Given the description of an element on the screen output the (x, y) to click on. 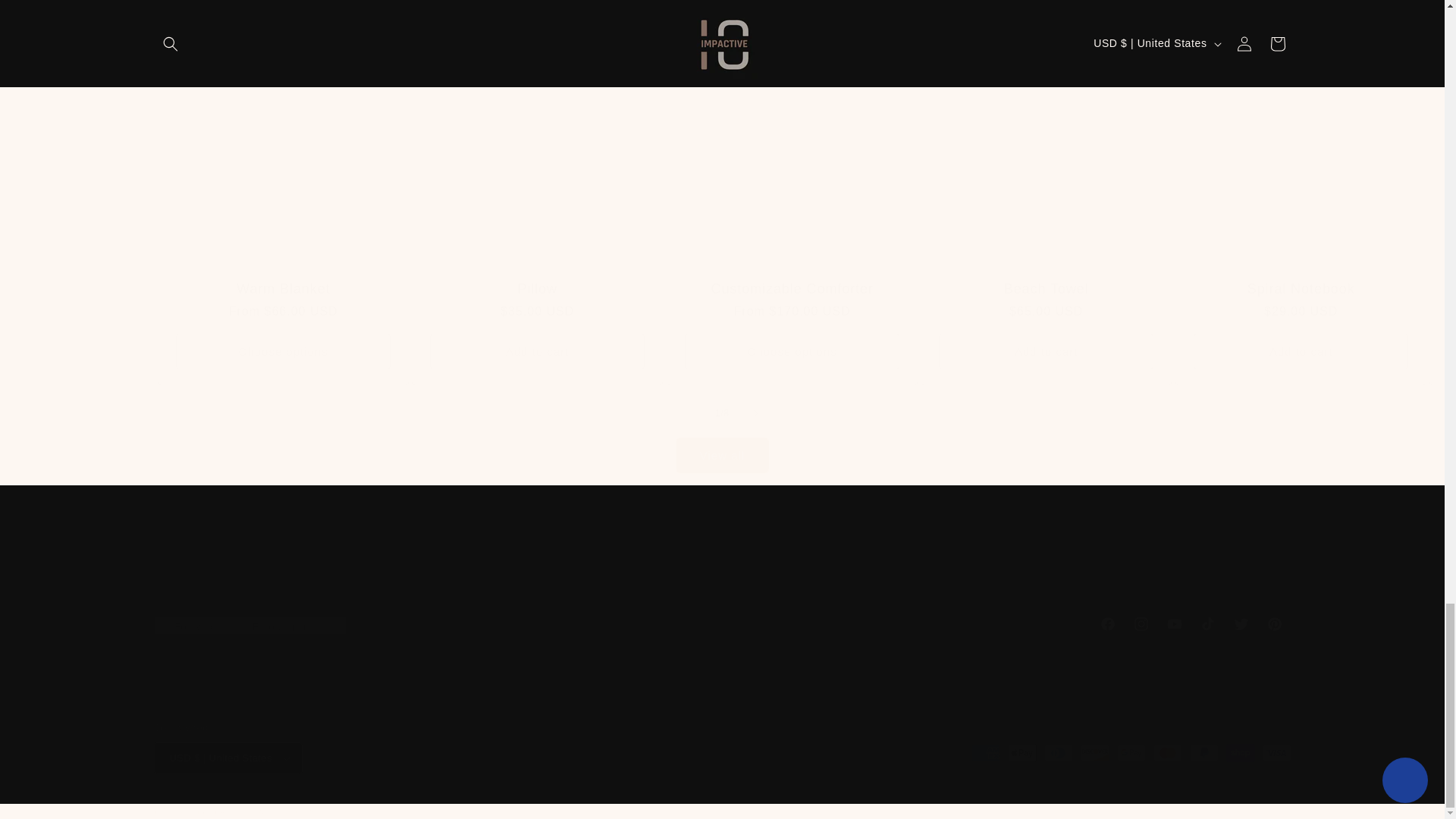
Add to cart (1046, 351)
Spiral Notebook (1300, 288)
Customizable Comforter (791, 288)
Warm Blanket (283, 288)
Choose options (791, 351)
Choose options (283, 351)
Beach Towel (721, 623)
Add to cart (1046, 288)
Pillow (537, 351)
